Given the description of an element on the screen output the (x, y) to click on. 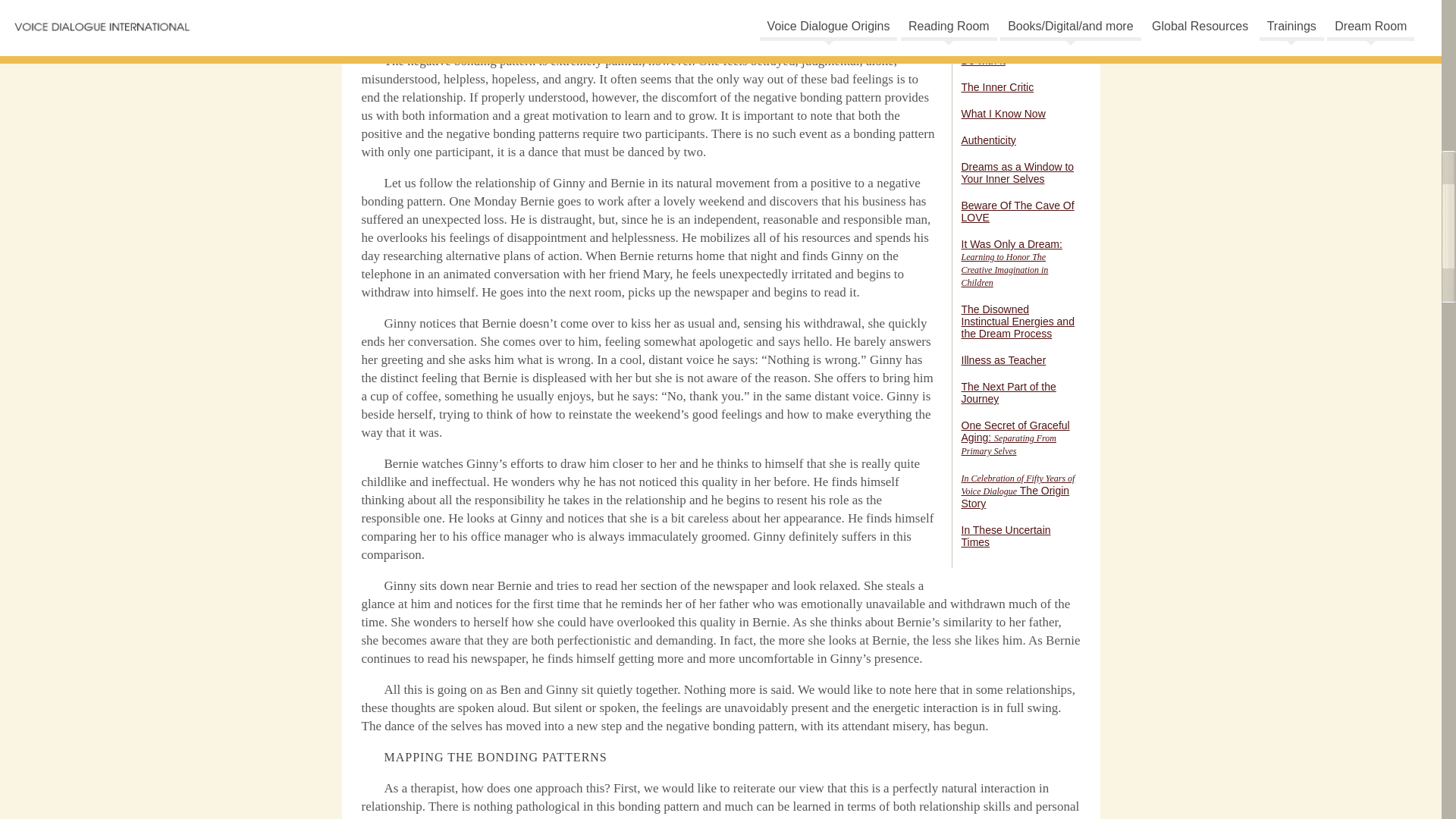
One Secret of Graceful Aging: Separating From Primary Selves (1015, 437)
Judgment and What to Do with It (1014, 54)
In These Uncertain Times (1005, 535)
Beware Of The Cave Of LOVE (1017, 211)
Illness as Teacher (1003, 359)
Some Thoughts About Prophecies (1012, 0)
Authenticity (988, 140)
The Next Part of the Journey (1008, 392)
The Inner Critic (996, 87)
The Disowned Instinctual Energies and the Dream Process (1017, 321)
What I Know Now (1002, 113)
Dreams as a Window to Your Inner Selves (1017, 172)
About Vulnerability (1004, 21)
